Given the description of an element on the screen output the (x, y) to click on. 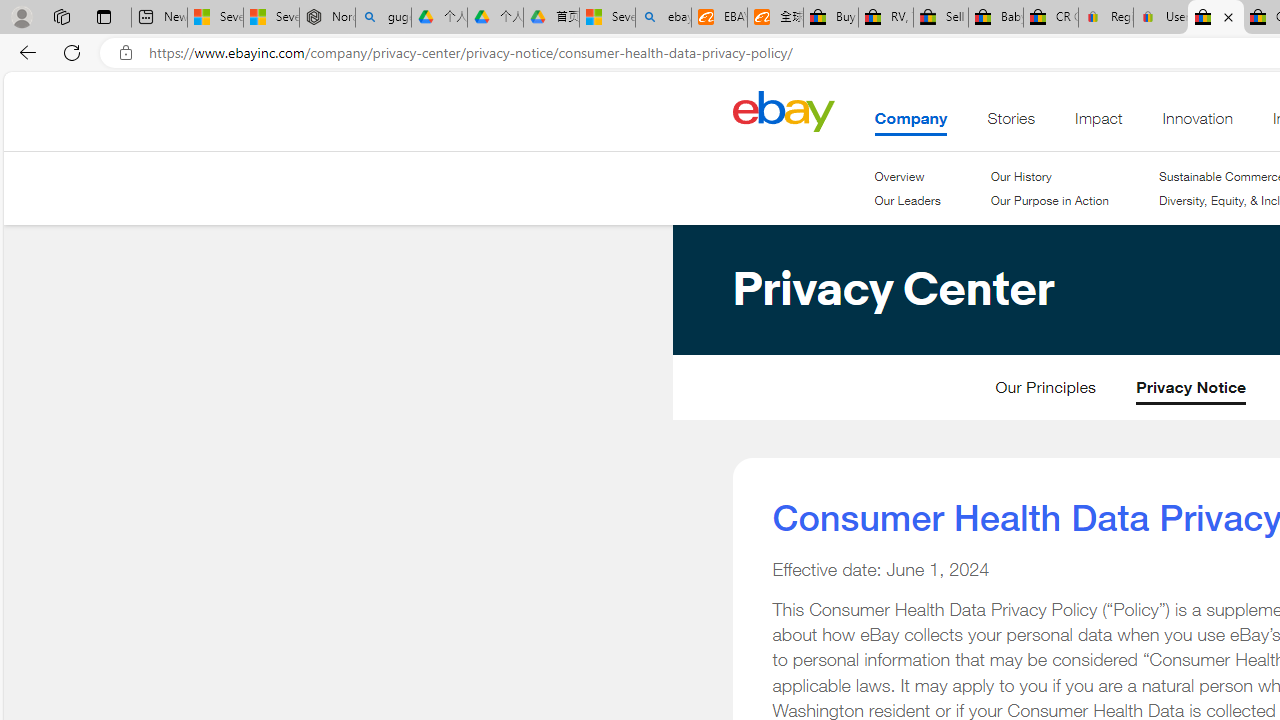
Impact (1098, 123)
Our Leaders (907, 200)
Our History (1020, 176)
Our Principles (1045, 391)
Stories (1010, 123)
Our Purpose in Action (1048, 200)
Privacy Center (812, 397)
Our History (1048, 176)
Register: Create a personal eBay account (1105, 17)
Our Purpose in Action (1048, 201)
Innovation (1197, 123)
